Given the description of an element on the screen output the (x, y) to click on. 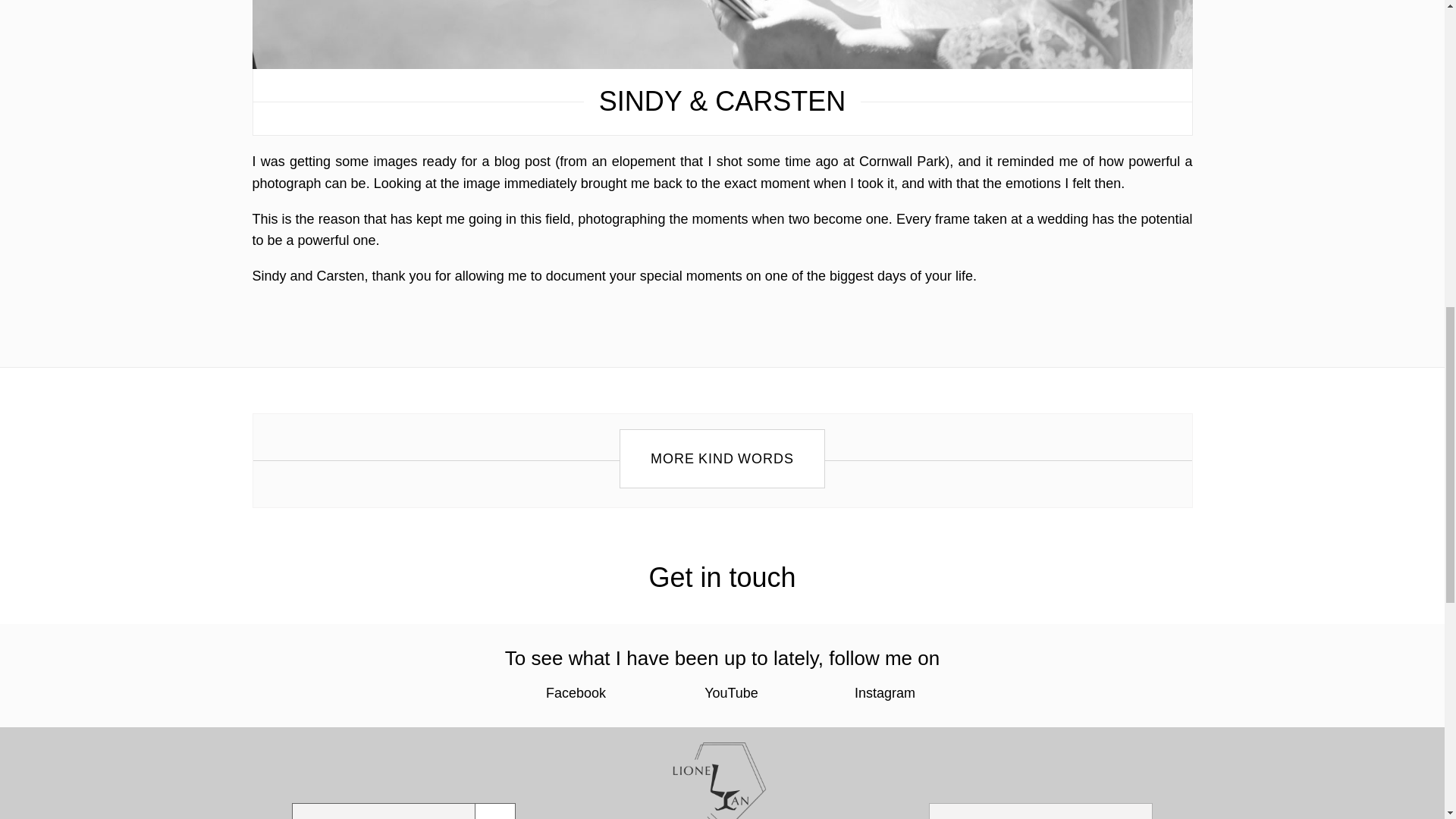
Follow me on YouTube (716, 693)
YouTube (716, 693)
MORE KIND WORDS (722, 458)
Search (495, 811)
Search (383, 811)
Instagram (871, 693)
Follow me on Instagram (871, 693)
Search (495, 811)
CHECK AVAILABILITY (1040, 811)
Follow me on Facebook (567, 693)
